Given the description of an element on the screen output the (x, y) to click on. 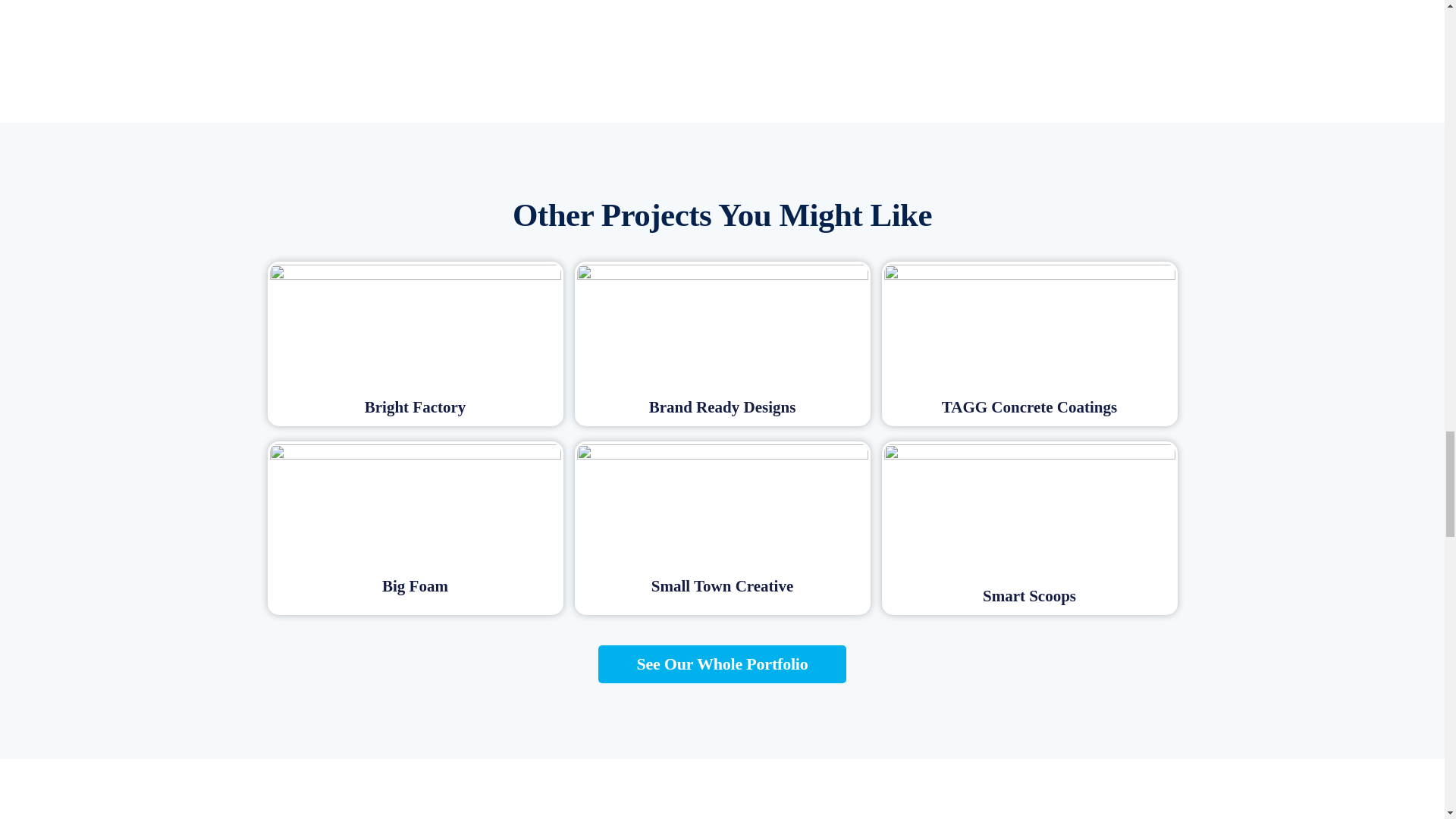
Small Town Creative (721, 586)
TAGG Concrete Coatings (1029, 407)
Bright Factory (415, 407)
Brand Ready Designs (722, 407)
Big Foam (414, 586)
